Given the description of an element on the screen output the (x, y) to click on. 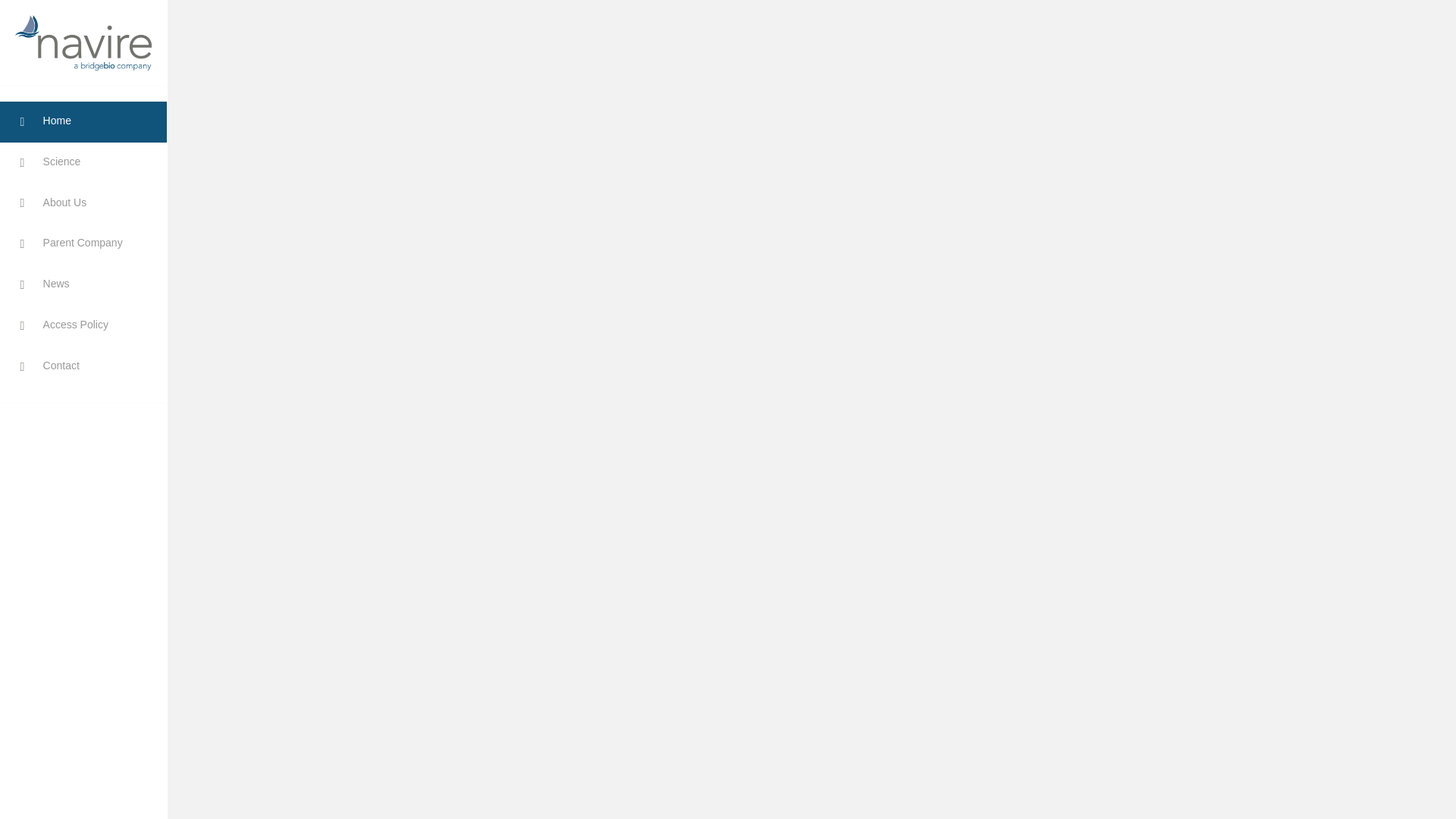
Parent Company (83, 243)
News (83, 284)
contact (83, 366)
Home (83, 121)
Contact (83, 366)
About Us (83, 203)
Access Policy (83, 325)
Science (83, 162)
